Given the description of an element on the screen output the (x, y) to click on. 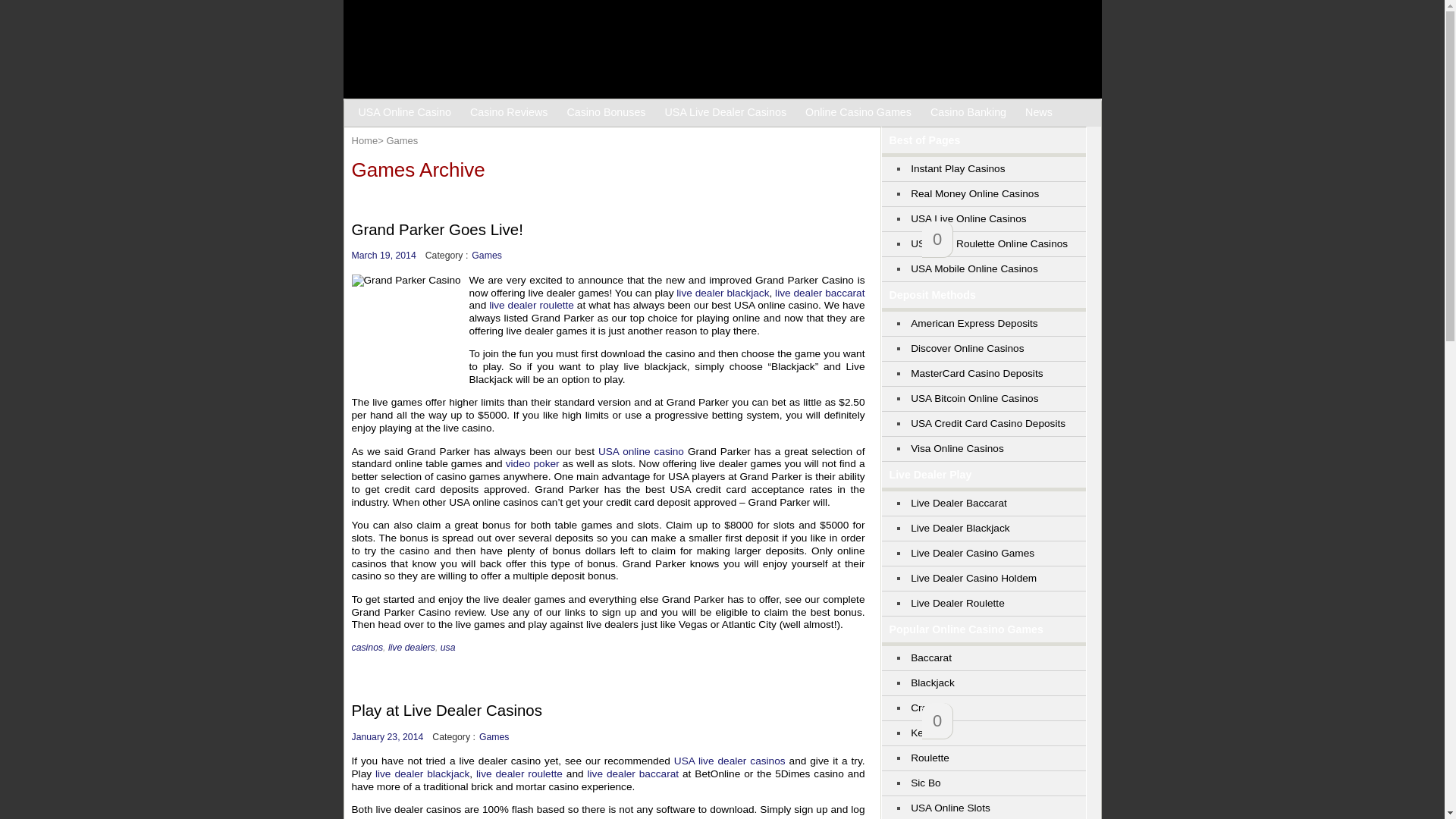
Games (486, 255)
casinos (368, 647)
Home (365, 140)
Casino Bonuses (608, 112)
USA Online Casino (407, 112)
January 23, 2014 (387, 737)
video poker (532, 463)
News (1040, 112)
live dealer roulette (519, 773)
live dealer blackjack (421, 773)
